Given the description of an element on the screen output the (x, y) to click on. 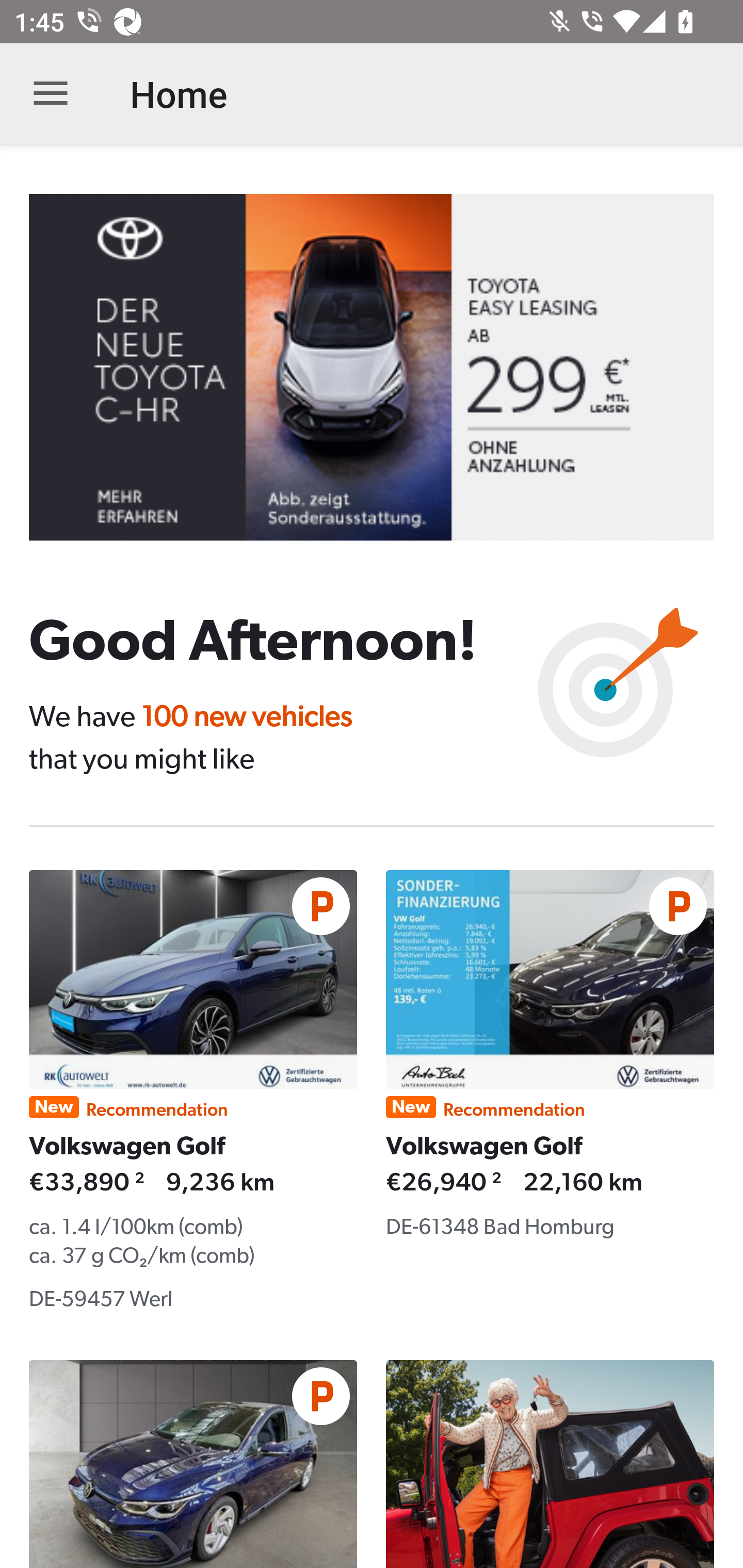
Open navigation bar (50, 93)
B31340770 (385, 367)
